Given the description of an element on the screen output the (x, y) to click on. 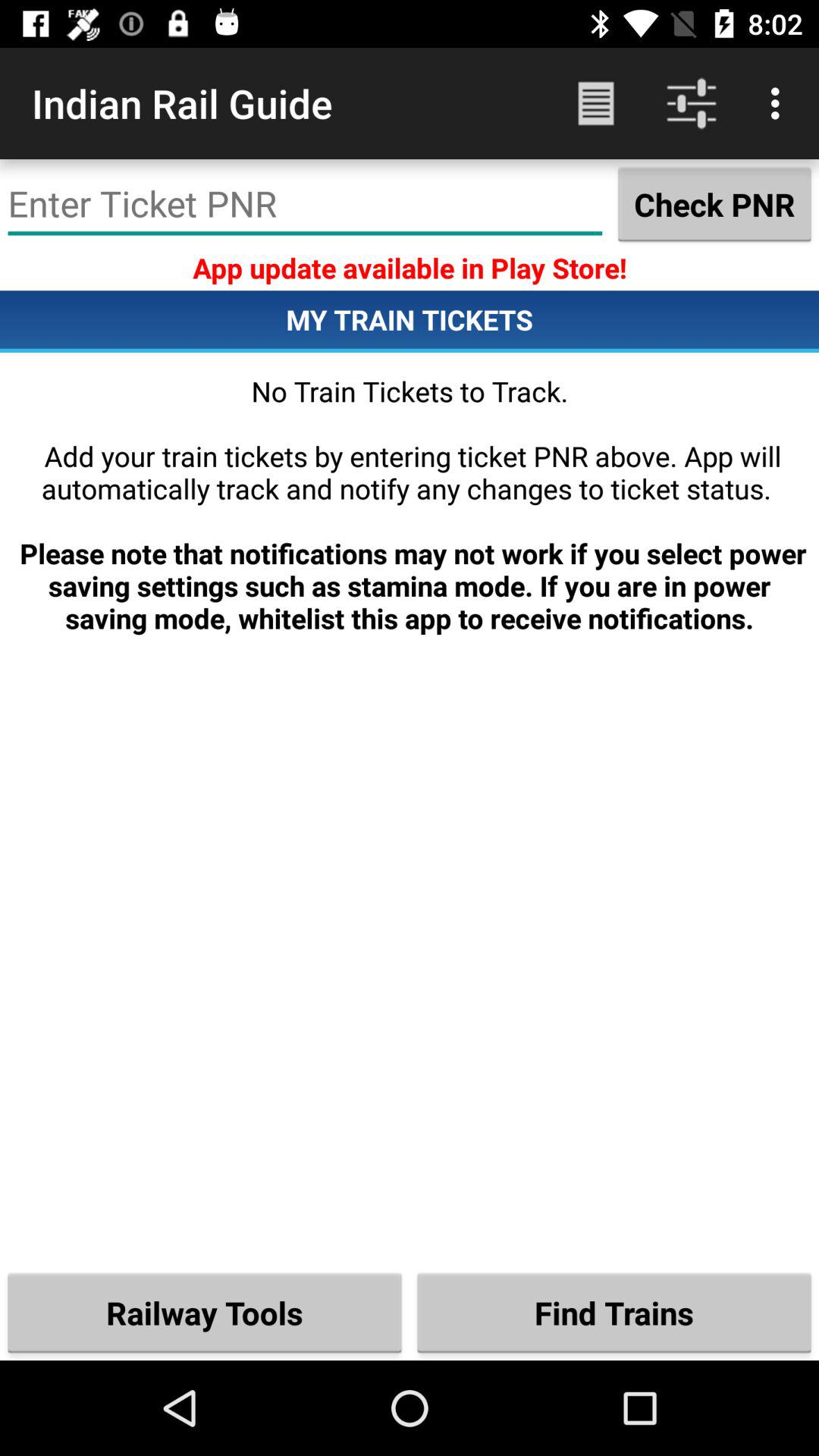
select icon at the bottom left corner (204, 1312)
